Given the description of an element on the screen output the (x, y) to click on. 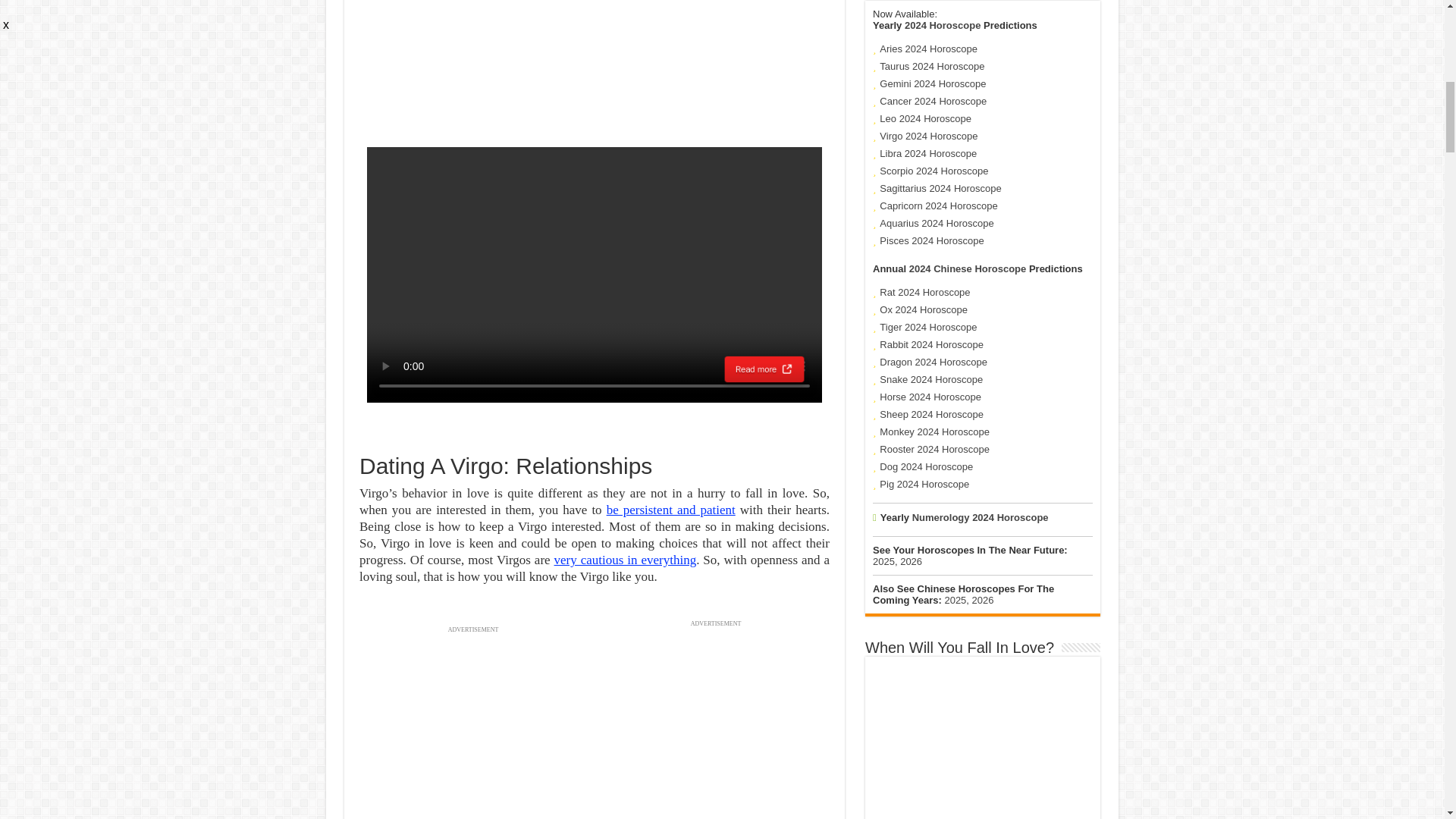
Read more (764, 369)
be persistent and patient (671, 509)
very cautious in everything (625, 559)
